Given the description of an element on the screen output the (x, y) to click on. 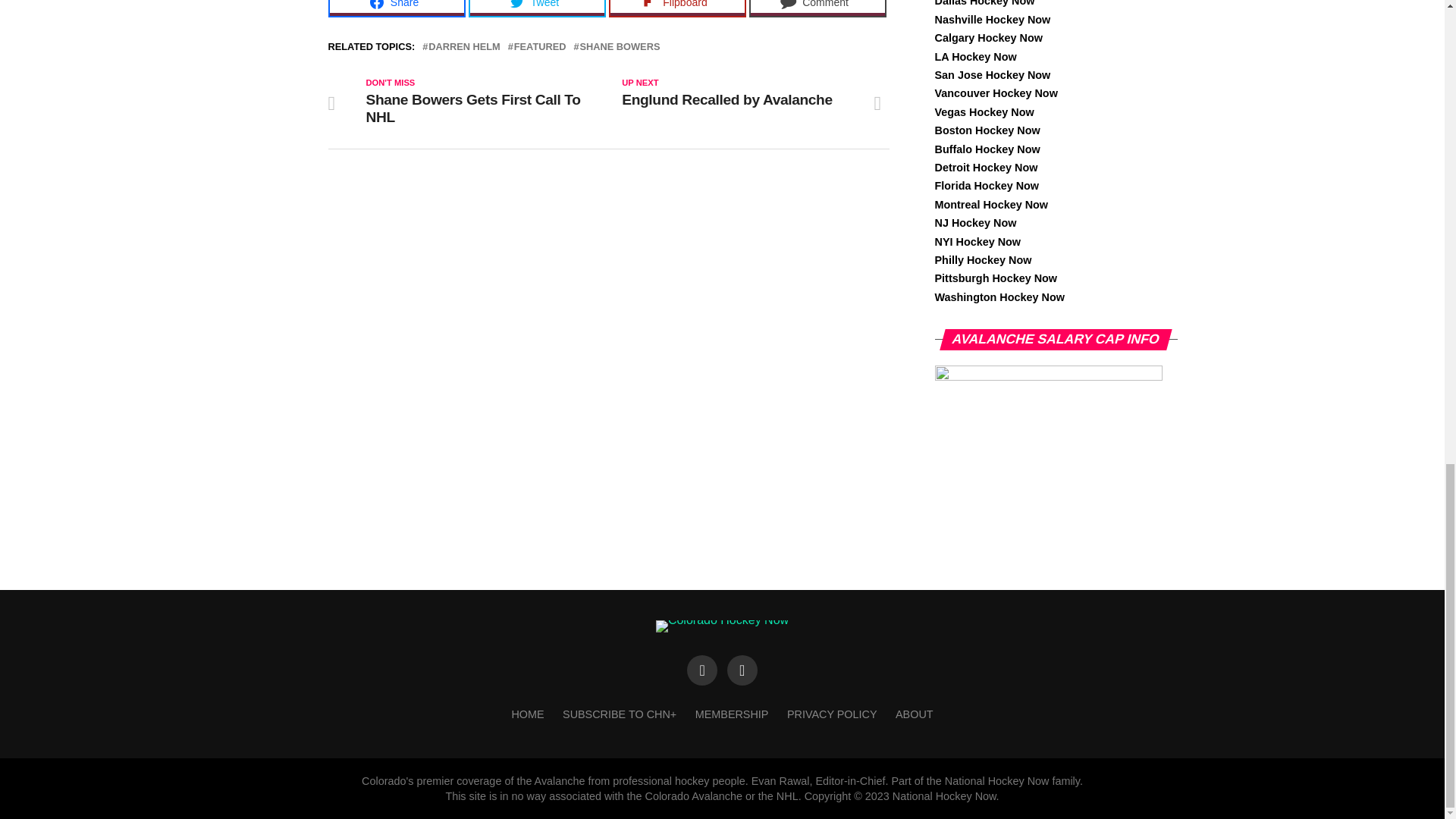
Share on Comment (817, 8)
Share on Tweet (536, 8)
Share on Share (395, 8)
Share on Flipboard (676, 8)
